Given the description of an element on the screen output the (x, y) to click on. 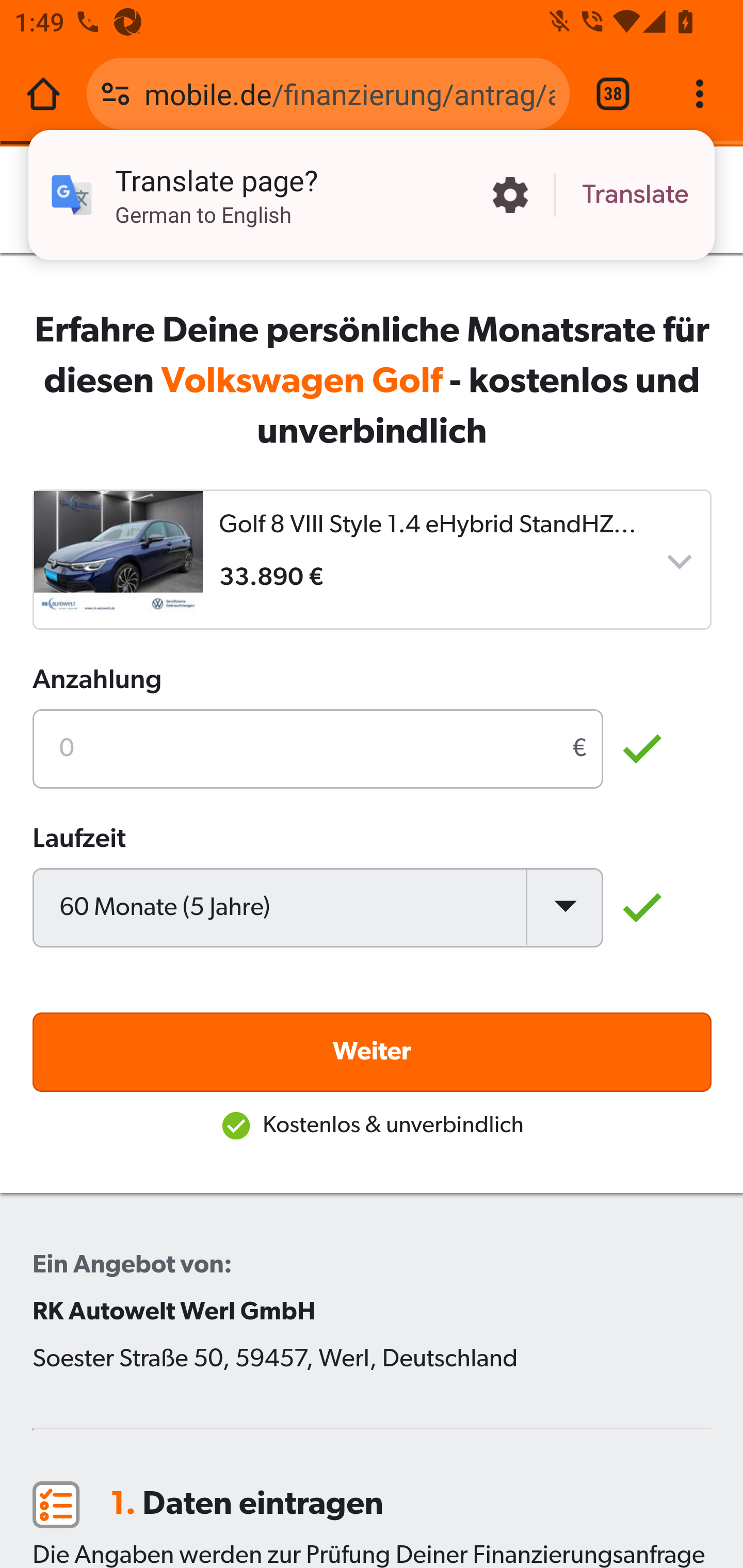
Open the home page (43, 93)
Connection is secure (115, 93)
Switch or close tabs (612, 93)
Customize and control Google Chrome (699, 93)
Translate (634, 195)
More options in the Translate page? (509, 195)
60 Monate (5 Jahre) (317, 890)
Weiter (372, 1034)
